Given the description of an element on the screen output the (x, y) to click on. 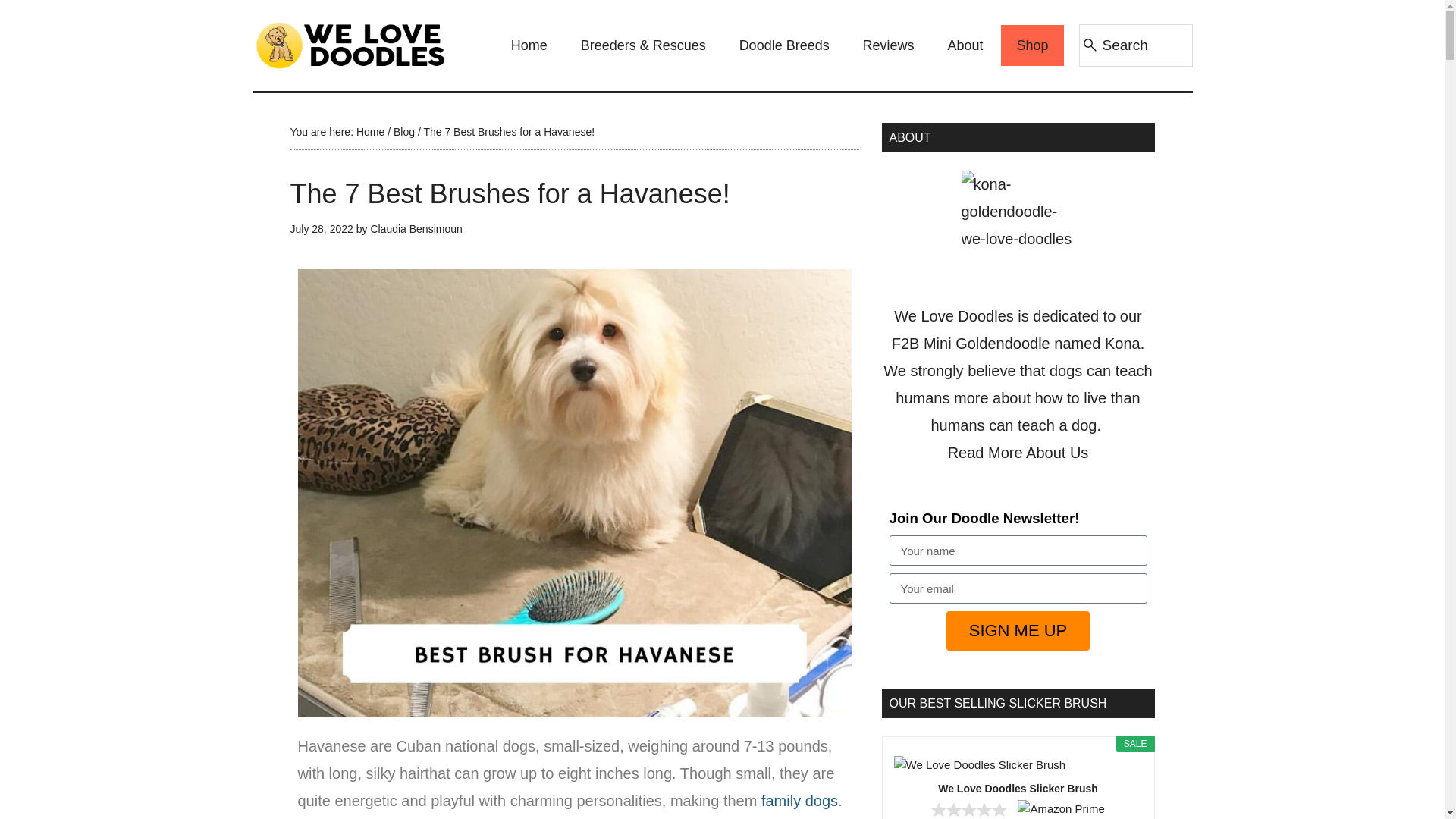
Home (529, 45)
Reviews (888, 45)
Claudia Bensimoun (415, 228)
About (965, 45)
Home (370, 132)
Shop (1031, 45)
Doodle Breeds (783, 45)
